Given the description of an element on the screen output the (x, y) to click on. 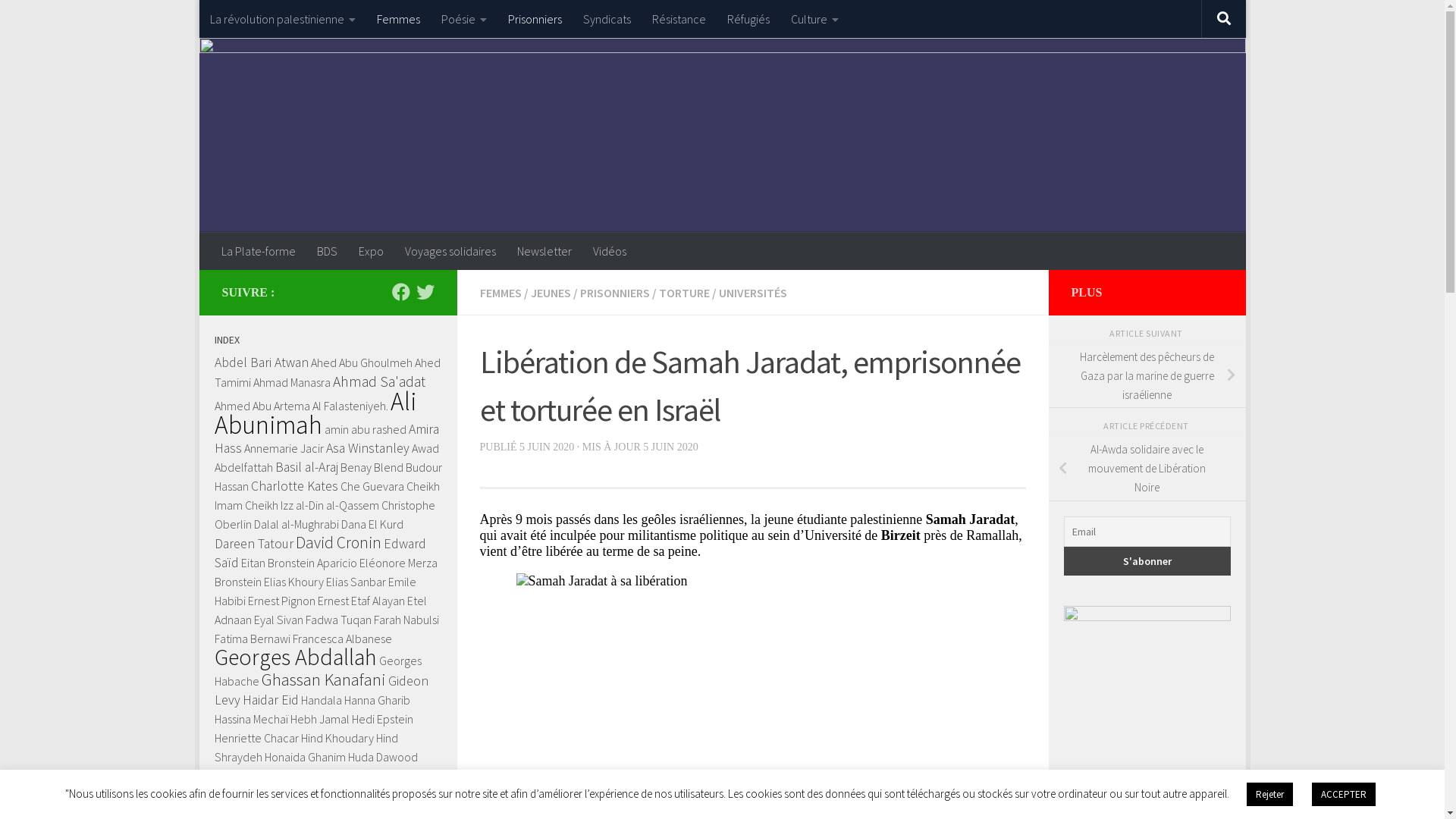
ACCEPTER Element type: text (1343, 794)
La Plate-forme Element type: text (258, 250)
Awad Abdelfattah Element type: text (325, 457)
Huda Dawood Element type: text (382, 756)
Culture Element type: text (813, 18)
Emile Habibi Element type: text (314, 591)
Che Guevara Element type: text (371, 485)
Dana El Kurd Element type: text (372, 523)
Georges Abdallah Element type: text (294, 657)
amin abu rashed Element type: text (365, 428)
Ibrahim al-Nabulsi Element type: text (257, 776)
Al Falasteniyeh. Element type: text (350, 405)
Gideon Levy Element type: text (320, 690)
David Cronin Element type: text (338, 542)
Femmes Element type: text (397, 18)
Ahmed Abu Artema Element type: text (261, 405)
Charlotte Kates Element type: text (293, 485)
Ahmad Sa'adat Element type: text (378, 381)
FEMMES Element type: text (499, 292)
Eitan Bronstein Aparicio Element type: text (299, 562)
Israa Mohammed Jamal Element type: text (272, 795)
Ahed Abu Ghoulmeh Element type: text (361, 362)
Suivez-nous sur Facebook Element type: hover (400, 291)
Syndicats Element type: text (605, 18)
Hanna Gharib Element type: text (377, 699)
Hind Shraydeh Element type: text (305, 747)
Issa Amro Element type: text (356, 795)
Francesca Albanese Element type: text (342, 638)
PRISONNIERS Element type: text (614, 292)
Basil al-Araj Element type: text (305, 466)
Cheikh Imam Element type: text (326, 495)
Annemarie Jacir Element type: text (283, 447)
Ahed Tamimi Element type: text (326, 371)
Benay Blend Element type: text (370, 466)
Fadwa Tuqan Element type: text (337, 619)
Fatima Bernawi Element type: text (251, 638)
Honaida Ghanim Element type: text (304, 756)
Elias Sanbar Element type: text (355, 581)
Etaf Alayan Element type: text (377, 600)
Ahmad Manasra Element type: text (291, 381)
Rejeter Element type: text (1269, 794)
Abdel Bari Atwan Element type: text (260, 362)
Elias Khoury Element type: text (293, 581)
Ernest Pignon Ernest Element type: text (297, 600)
Budour Hassan Element type: text (327, 476)
Dareen Tatour Element type: text (252, 543)
Ghassan Kanafani Element type: text (322, 679)
Hind Khoudary Element type: text (336, 737)
Expo Element type: text (370, 250)
Handala Element type: text (320, 699)
Henriette Chacar Element type: text (255, 737)
Cheikh Izz al-Din al-Qassem Element type: text (311, 504)
Israa Jaabis Element type: text (399, 776)
Newsletter Element type: text (544, 250)
Christophe Oberlin Element type: text (323, 514)
Haidar Eid Element type: text (270, 699)
Hebh Jamal Element type: text (318, 718)
Georges Habache Element type: text (316, 670)
Prisonniers Element type: text (534, 18)
Etel Adnaan Element type: text (319, 610)
Suivez-nous sur Twitter Element type: hover (424, 291)
JEUNES Element type: text (550, 292)
Asa Winstanley Element type: text (367, 447)
Skip to content Element type: text (260, 21)
S'abonner Element type: text (1146, 560)
Dalal al-Mughrabi Element type: text (295, 523)
Eyal Sivan Element type: text (277, 619)
Voyages solidaires Element type: text (450, 250)
Ali Abunimah Element type: text (314, 412)
BDS Element type: text (327, 250)
Farah Nabulsi Element type: text (405, 619)
TORTURE Element type: text (683, 292)
Hedi Epstein Element type: text (382, 718)
Amira Hass Element type: text (325, 438)
